Given the description of an element on the screen output the (x, y) to click on. 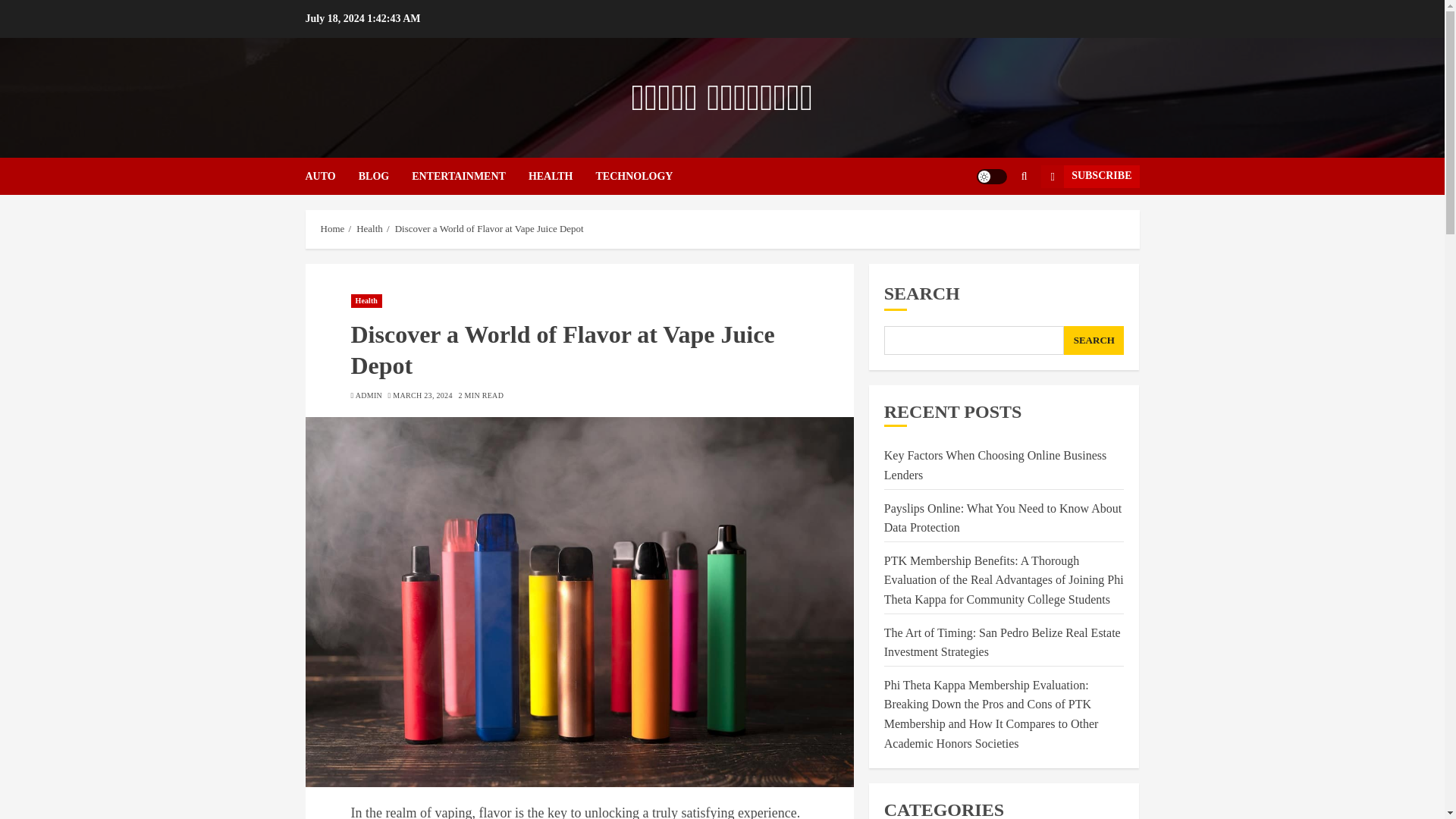
Health (365, 300)
BLOG (385, 176)
AUTO (331, 176)
SEARCH (1094, 339)
Key Factors When Choosing Online Business Lenders (994, 465)
Home (331, 228)
TECHNOLOGY (633, 176)
ENTERTAINMENT (470, 176)
Discover a World of Flavor at Vape Juice Depot (488, 228)
ADMIN (368, 395)
SUBSCRIBE (1089, 176)
Payslips Online: What You Need to Know About Data Protection (1002, 518)
Health (369, 228)
